Given the description of an element on the screen output the (x, y) to click on. 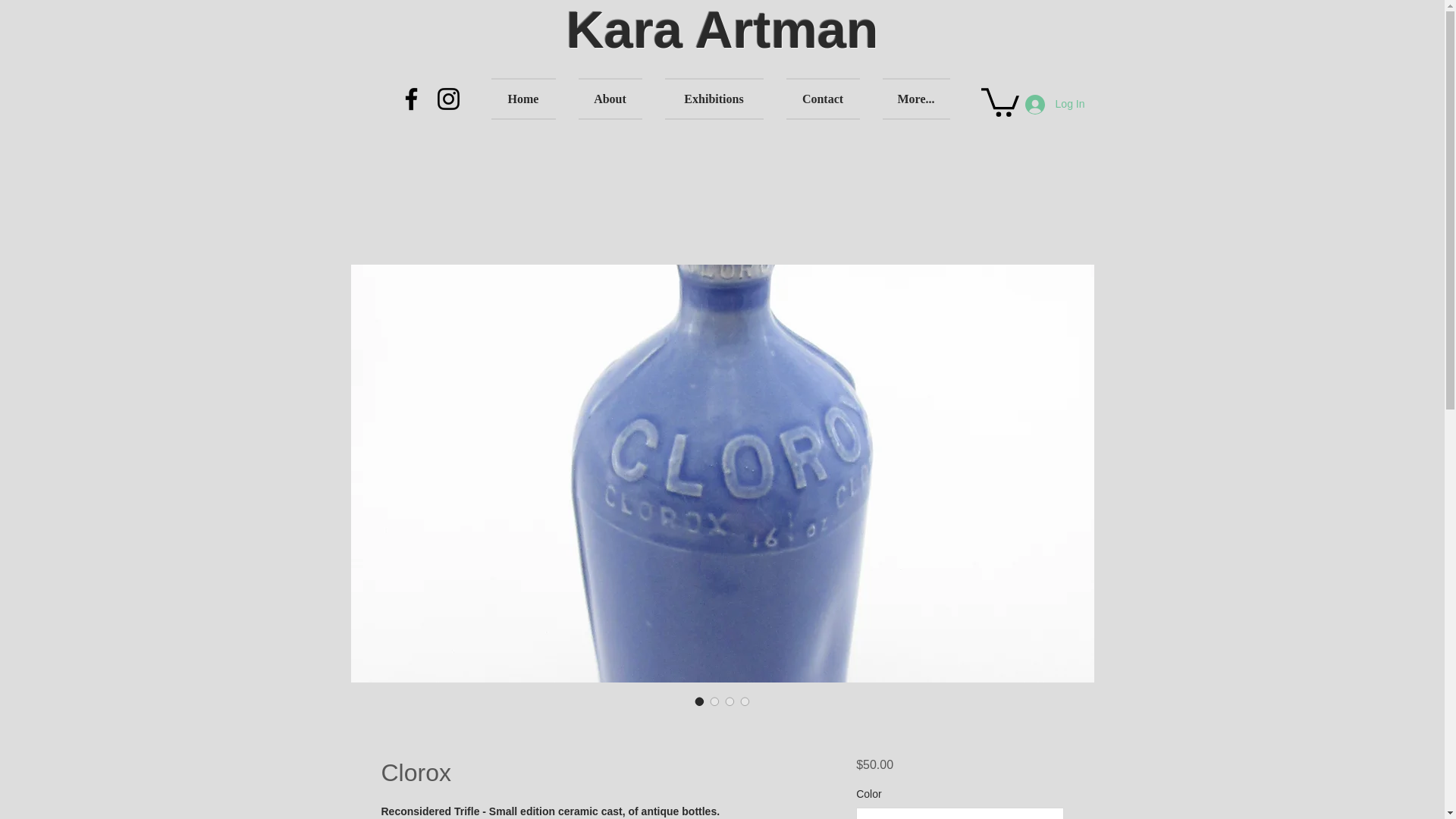
Exhibitions (713, 98)
About (610, 98)
Log In (1055, 104)
Select (959, 813)
Kara Artman (722, 29)
Contact (822, 98)
Home (529, 98)
